Given the description of an element on the screen output the (x, y) to click on. 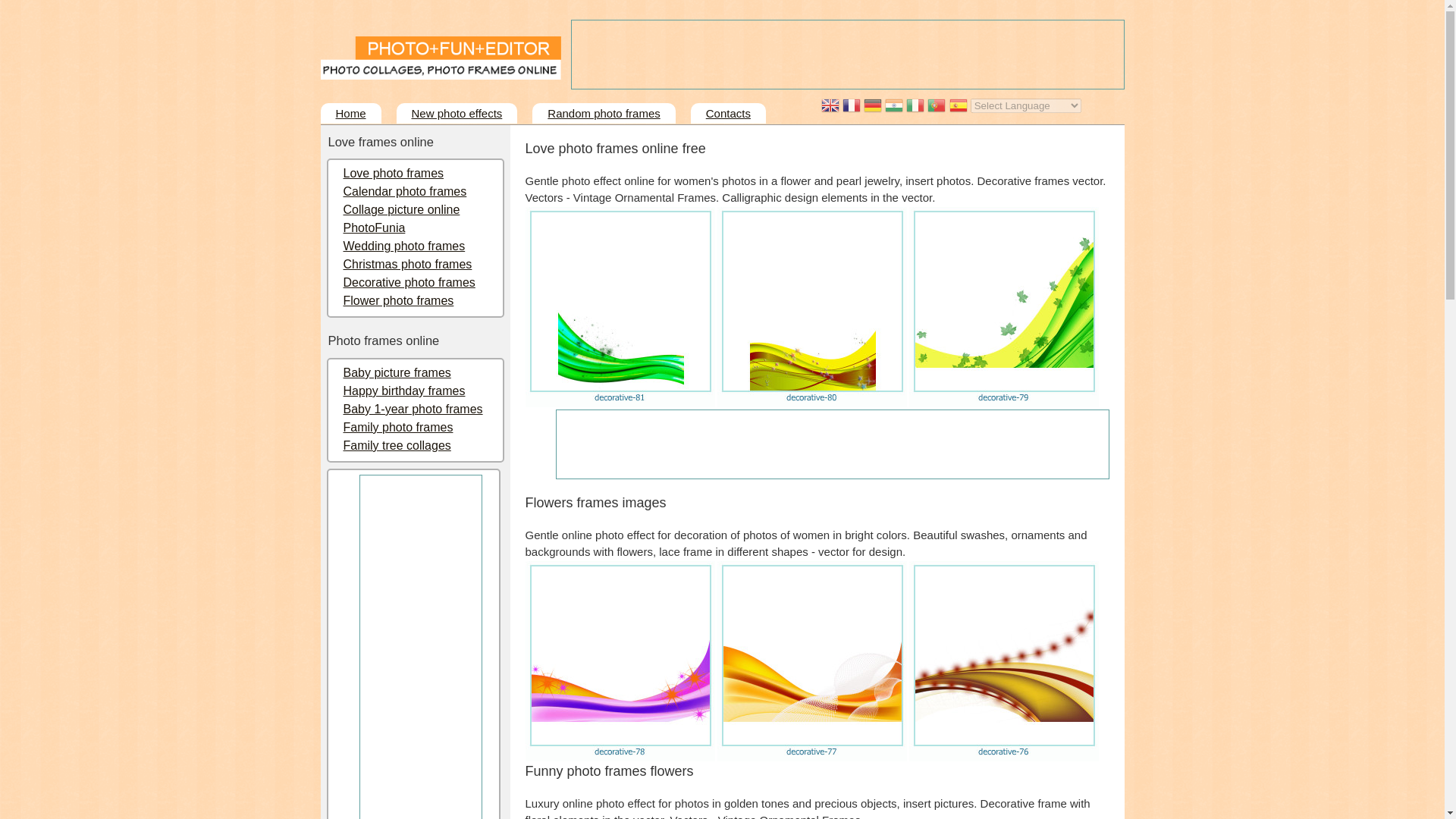
Home (350, 113)
Flower photo frames (397, 300)
Send message (727, 113)
Baby picture frames (395, 372)
Photo collages online (401, 209)
Decorative photo frames (408, 282)
Decorative photo frames and Love photo effects (408, 282)
Romantic photo frames online (393, 173)
Happy birthday frames (403, 390)
Random photo effects and photo frames (603, 113)
Random photo frames (603, 113)
Family tree collages (395, 445)
New photo effects (457, 113)
PhotoFunia (373, 227)
Wedding photo frames (403, 245)
